Given the description of an element on the screen output the (x, y) to click on. 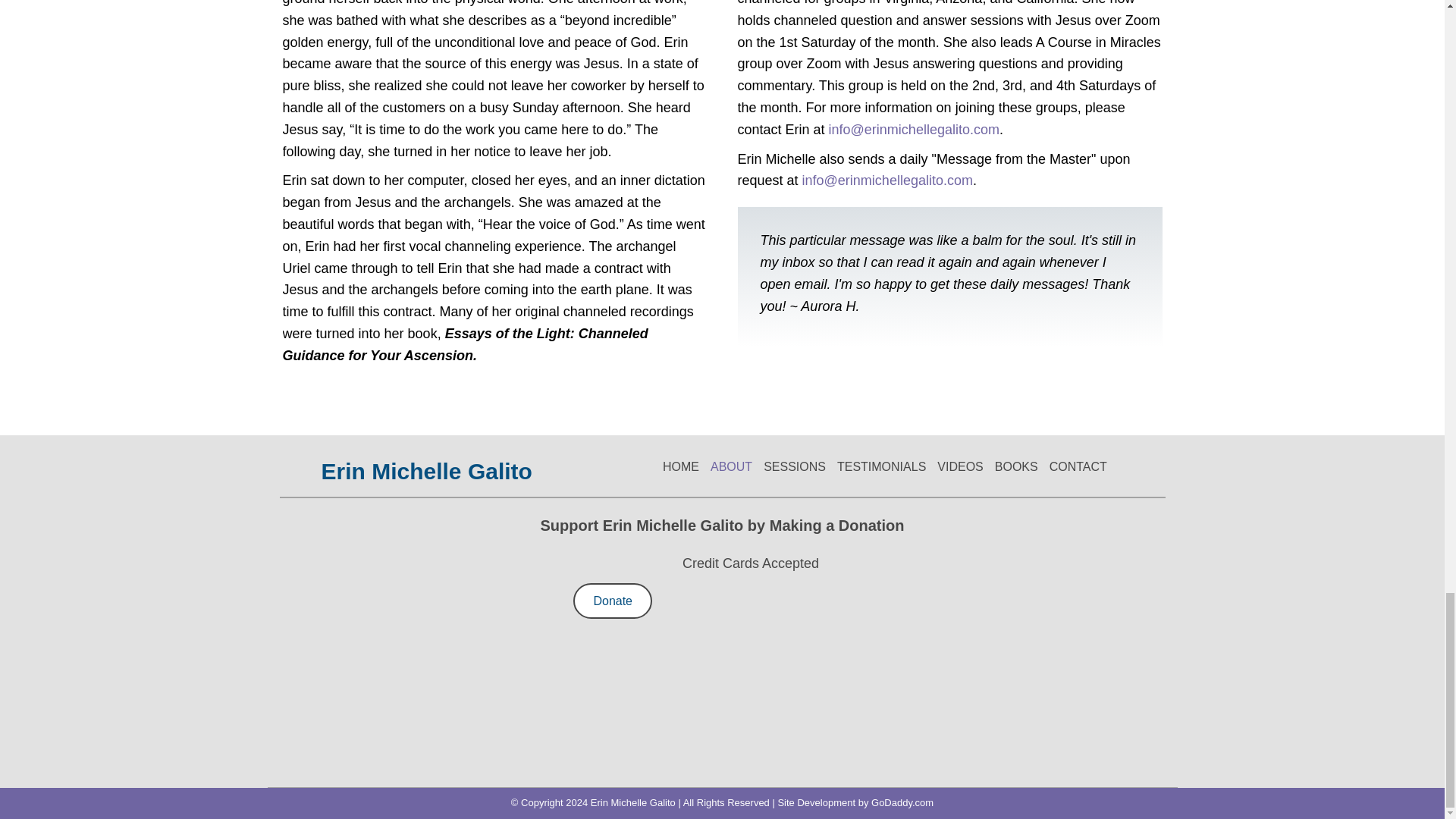
SESSIONS (794, 466)
VIDEOS (959, 466)
visa (769, 676)
Erin Michelle Galito (426, 465)
TESTIMONIALS (881, 466)
GoDaddy.com (901, 802)
BOOKS (1016, 466)
ABOUT (730, 466)
CONTACT (1077, 466)
Donate (612, 601)
